Given the description of an element on the screen output the (x, y) to click on. 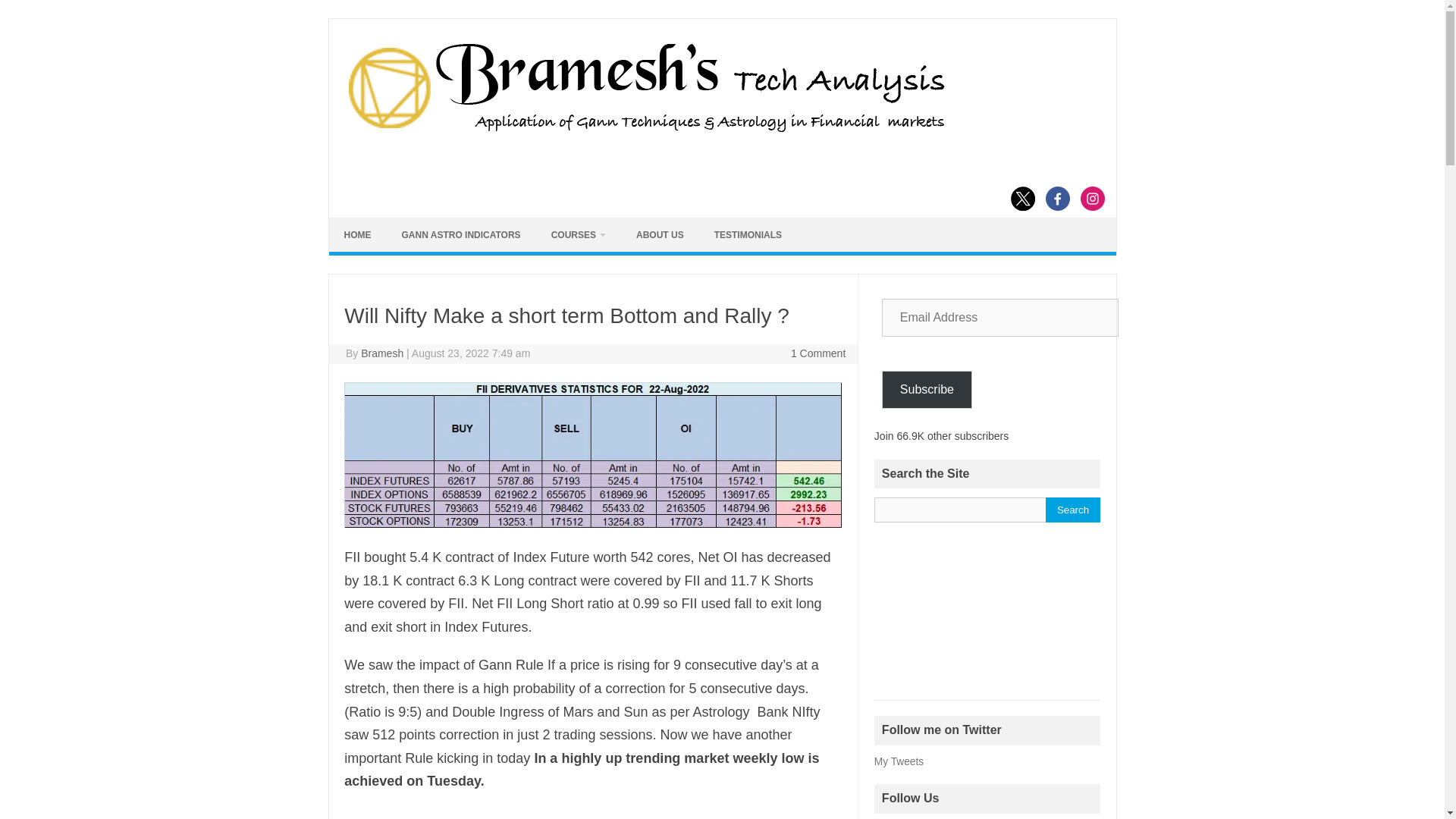
TESTIMONIALS (747, 234)
Subscribe (927, 389)
Search (1072, 509)
ABOUT US (659, 234)
Advertisement (592, 813)
Posts by Bramesh (382, 353)
Bramesh's Technical Analysis (645, 132)
1 Comment (817, 353)
HOME (358, 234)
GANN ASTRO INDICATORS (461, 234)
COURSES (578, 234)
Search (1072, 509)
Bramesh (382, 353)
